Given the description of an element on the screen output the (x, y) to click on. 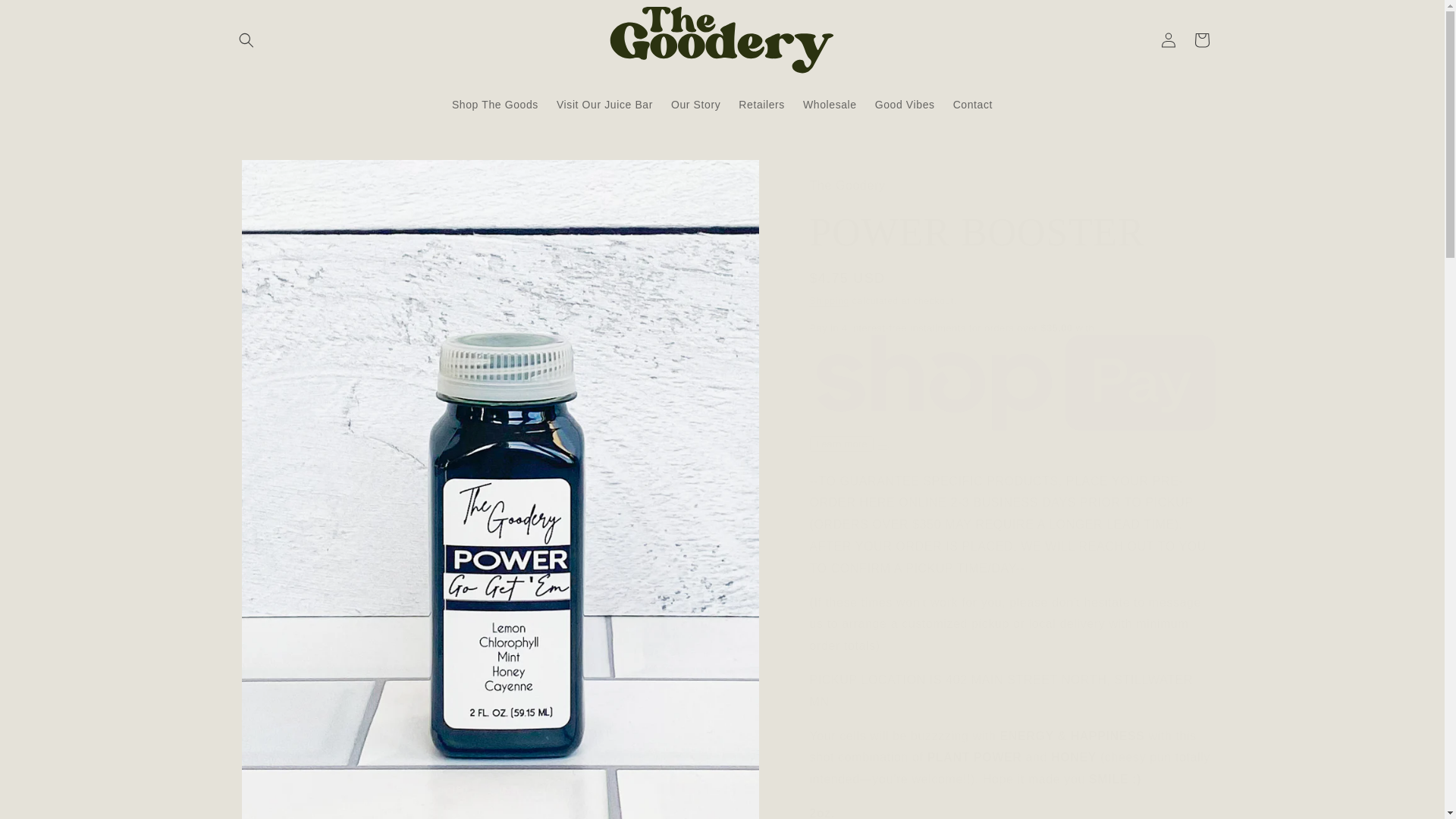
Wholesale (829, 104)
Skip to content (45, 17)
Cart (1201, 39)
Visit Our Juice Bar (604, 104)
Contact (972, 104)
Our Story (695, 104)
Log in (1168, 39)
Good Vibes (904, 104)
Shop The Goods (494, 104)
Skip to product information (274, 176)
